Given the description of an element on the screen output the (x, y) to click on. 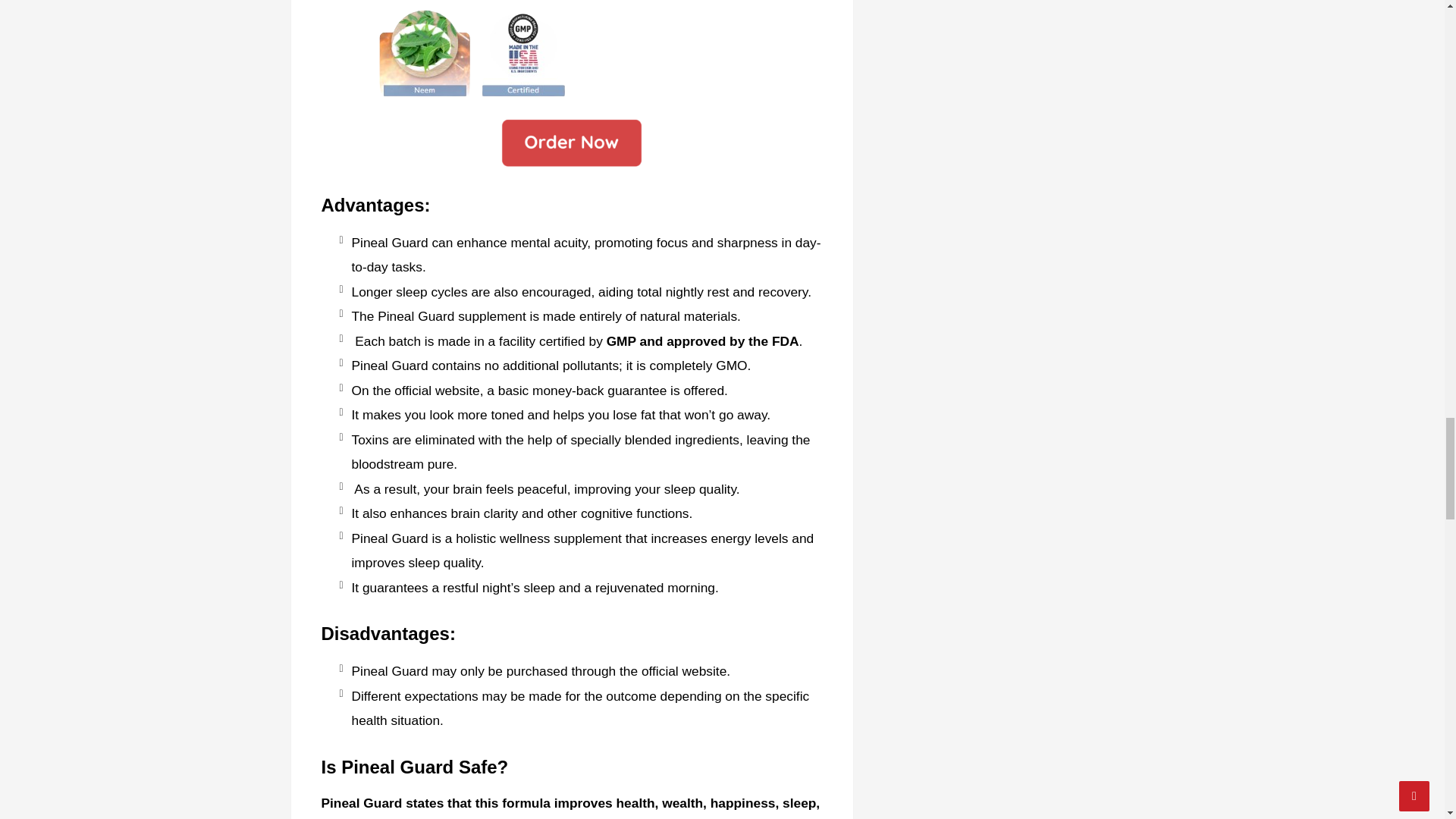
sleep (679, 488)
Pineal Guard Reviews 2 (571, 50)
Pineal Guard Reviews 3 (571, 144)
